Given the description of an element on the screen output the (x, y) to click on. 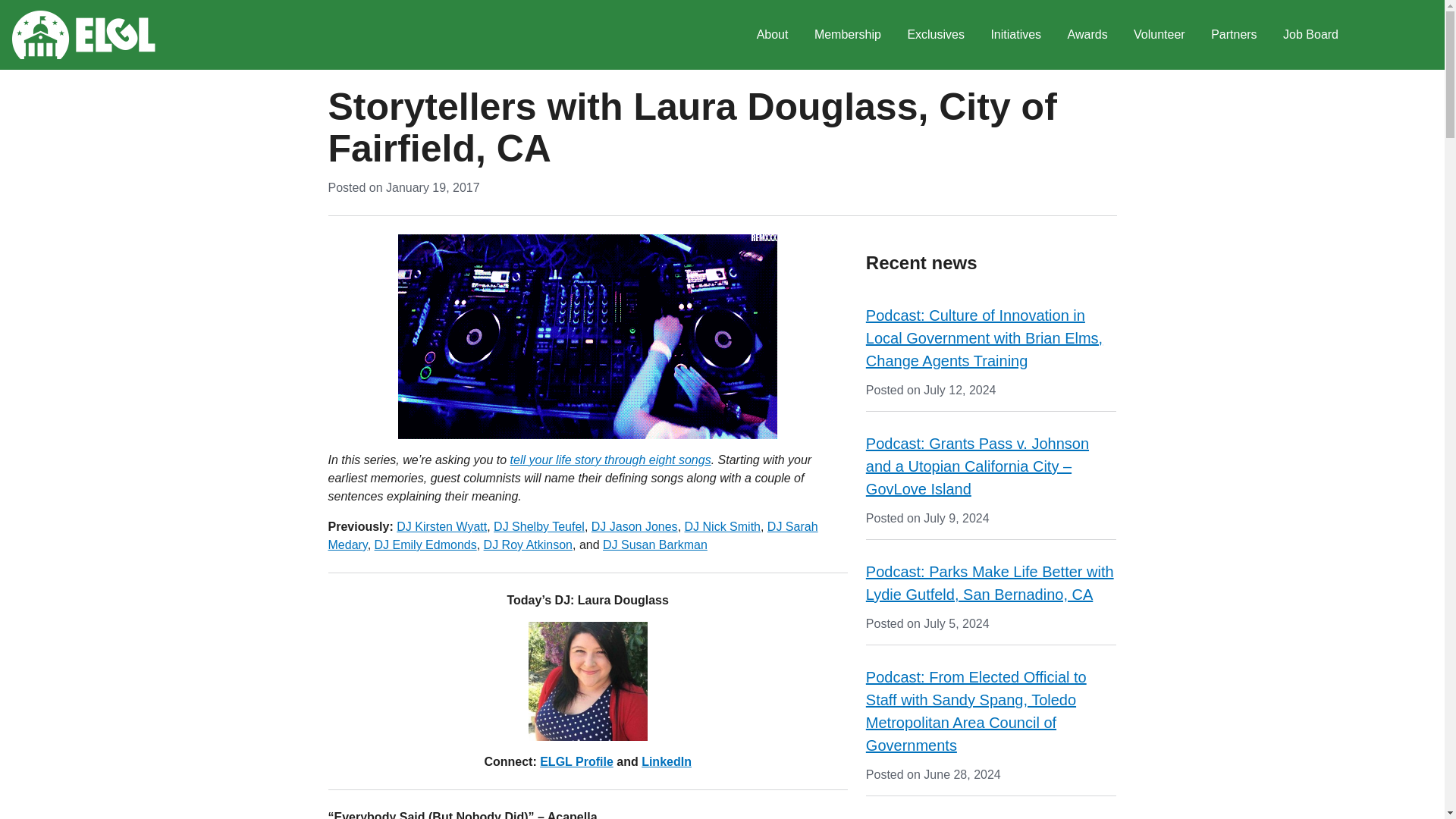
Home (83, 34)
tell your life story through eight songs (611, 459)
Volunteer (1159, 34)
Exclusives (935, 34)
Search (1372, 35)
DJ Sarah Medary (571, 535)
Initiatives (1015, 34)
Home (83, 34)
ELGL Profile (576, 761)
DJ Shelby Teufel (539, 526)
Membership (847, 34)
DJ Emily Edmonds (425, 544)
Job Board (1310, 34)
Awards (1088, 34)
